Given the description of an element on the screen output the (x, y) to click on. 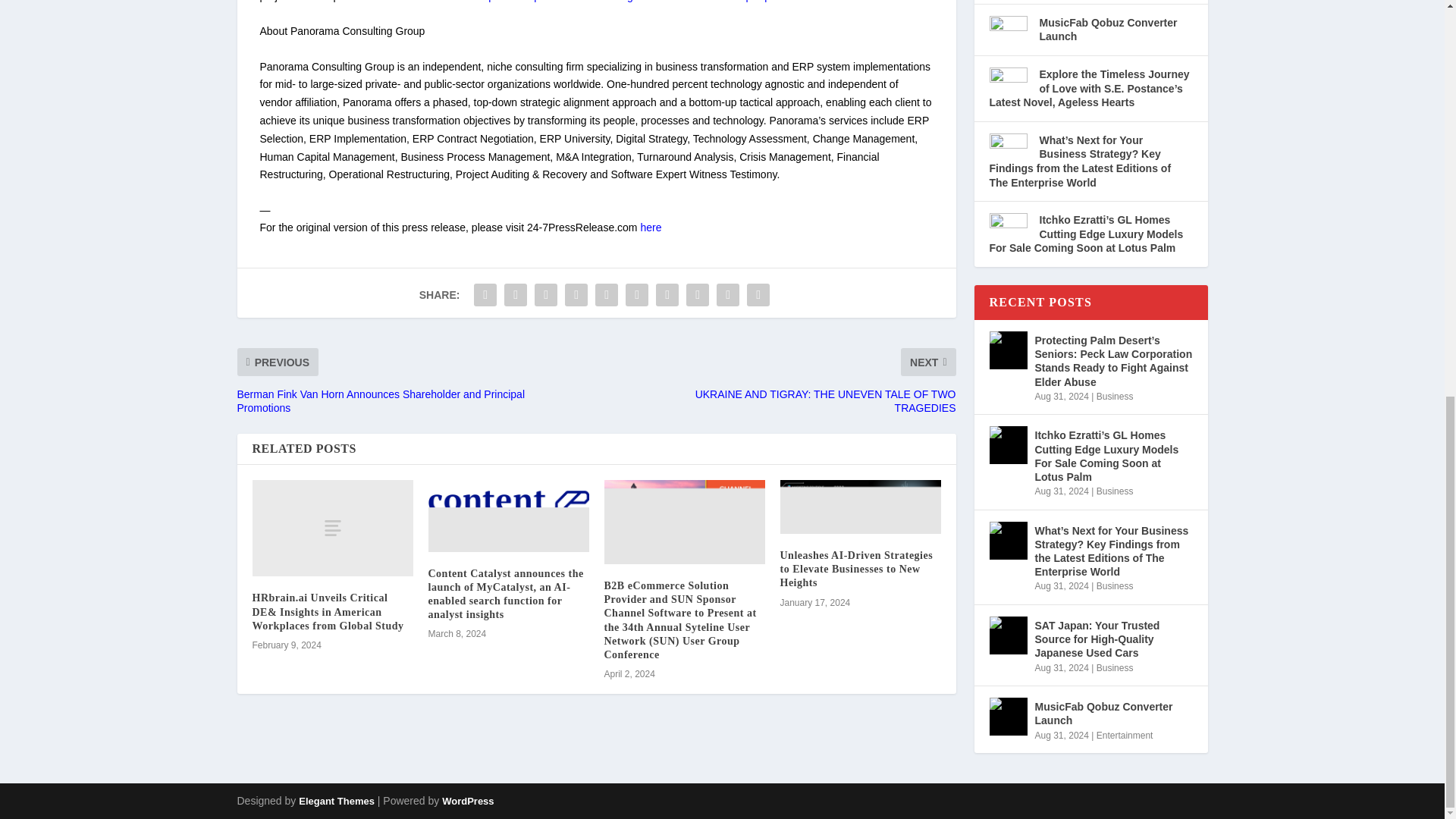
here (650, 227)
